Given the description of an element on the screen output the (x, y) to click on. 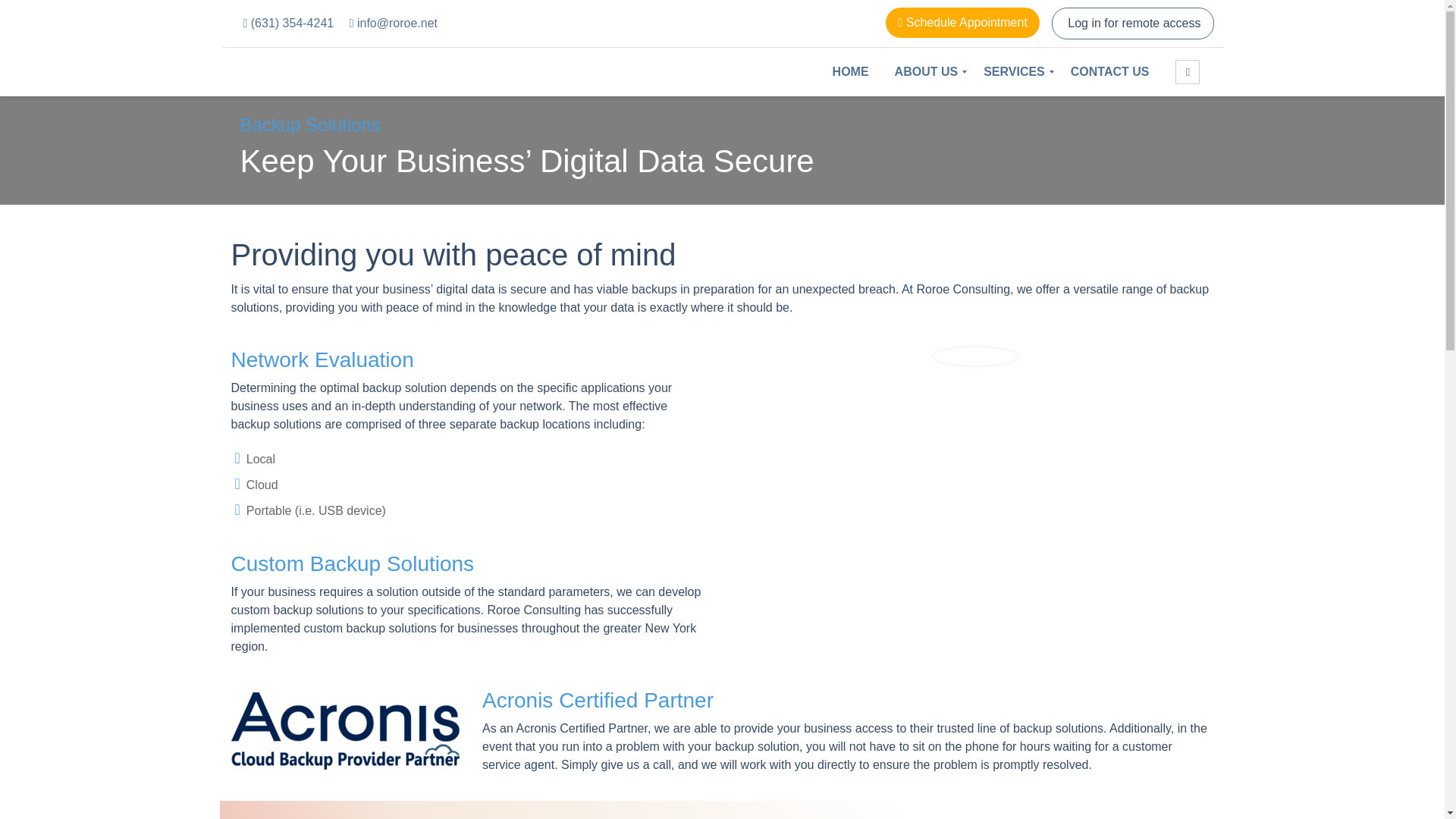
HOME (850, 71)
Log in for remote access (1132, 23)
Search (1187, 71)
Search (1187, 71)
Roroe Consulting - Your All-in-One IT Service Provider (388, 71)
Schedule Appointment (962, 22)
CONTACT US (1109, 71)
ABOUT US (926, 71)
